Given the description of an element on the screen output the (x, y) to click on. 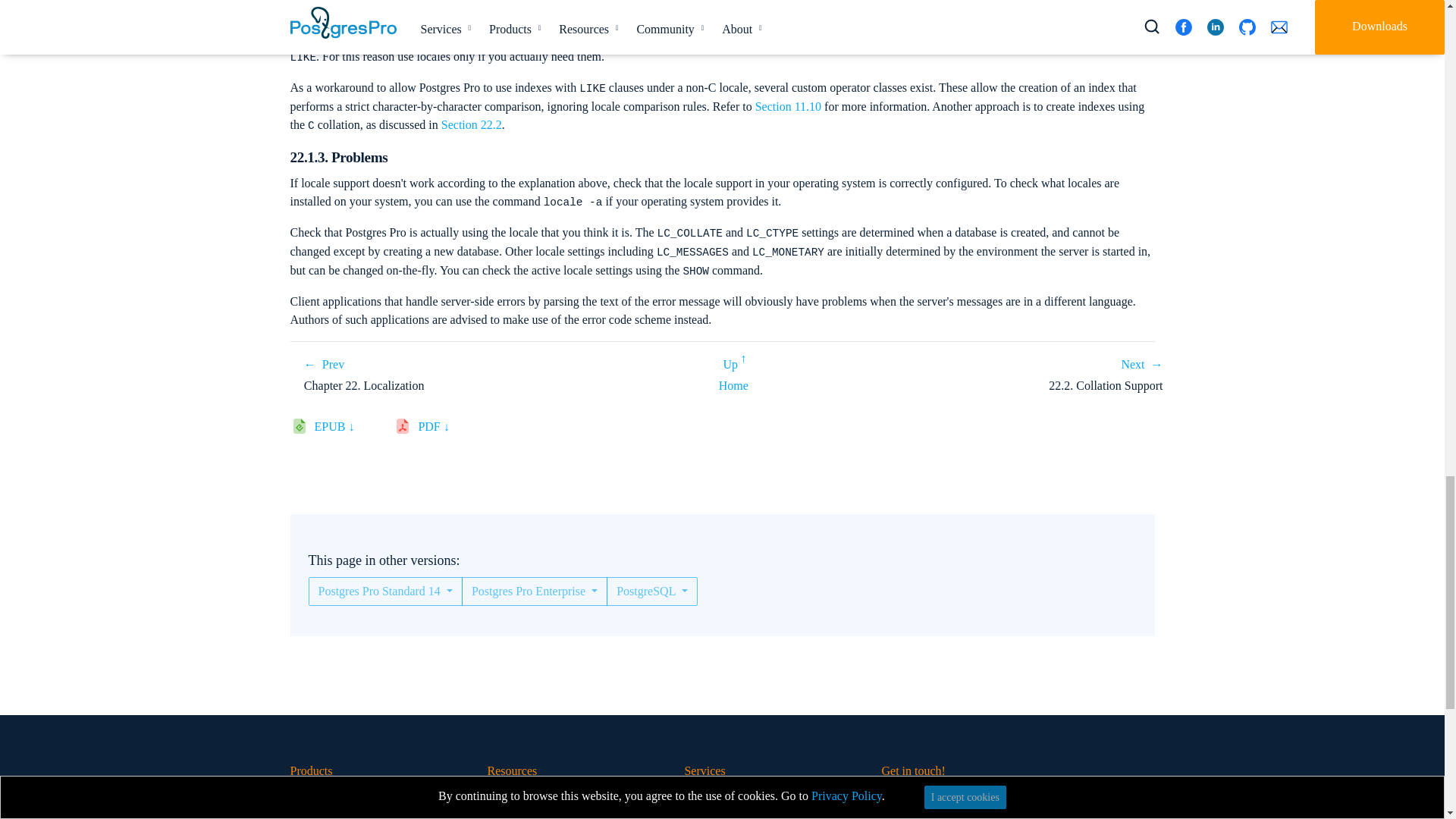
epub (339, 429)
Postgres Pro Standard 14.12.2 Documentation (733, 385)
pdf (438, 429)
